Given the description of an element on the screen output the (x, y) to click on. 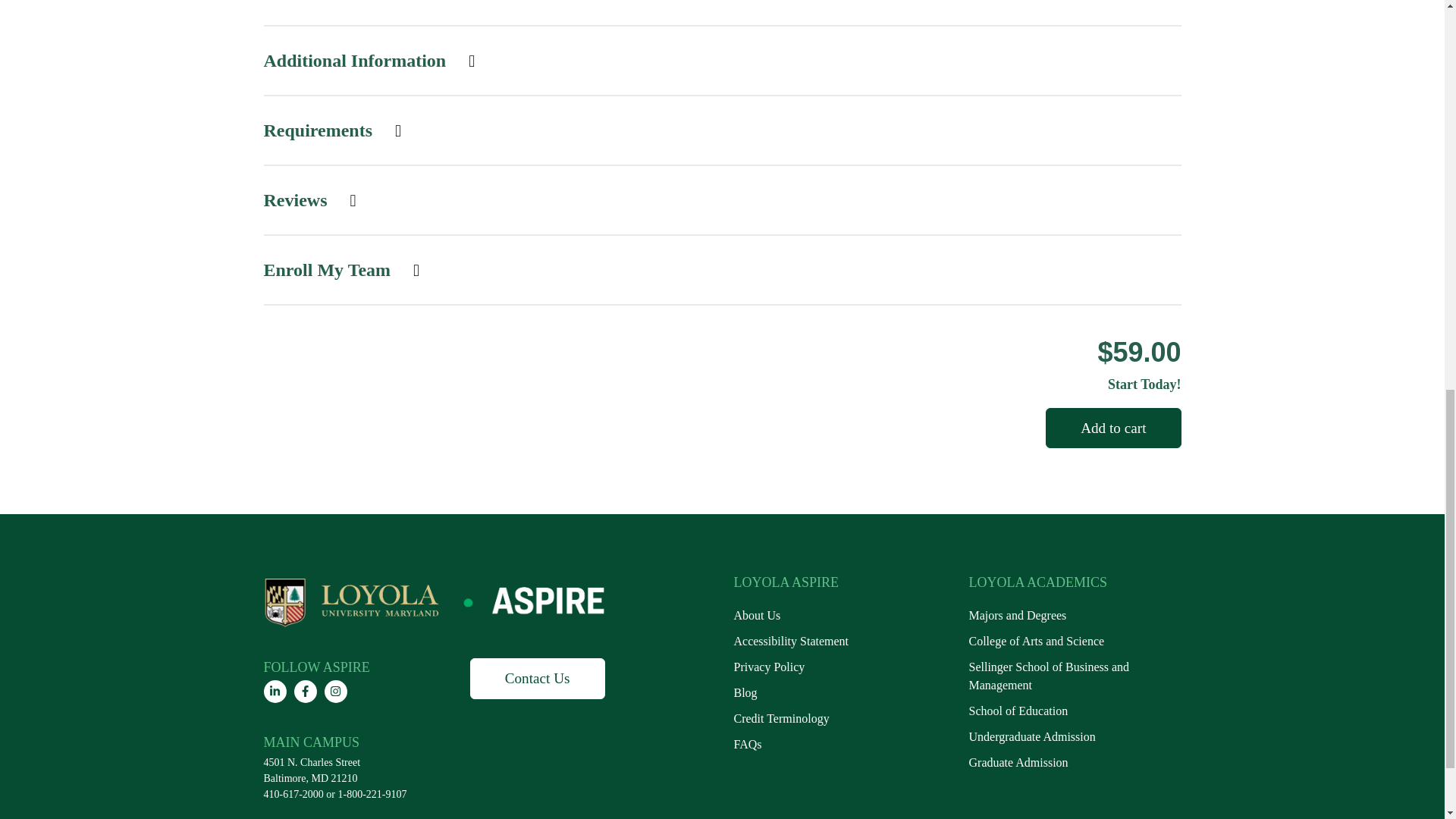
Link to Facebook (305, 691)
Link to Instagram (335, 691)
Link to LinkedIn (274, 691)
